Given the description of an element on the screen output the (x, y) to click on. 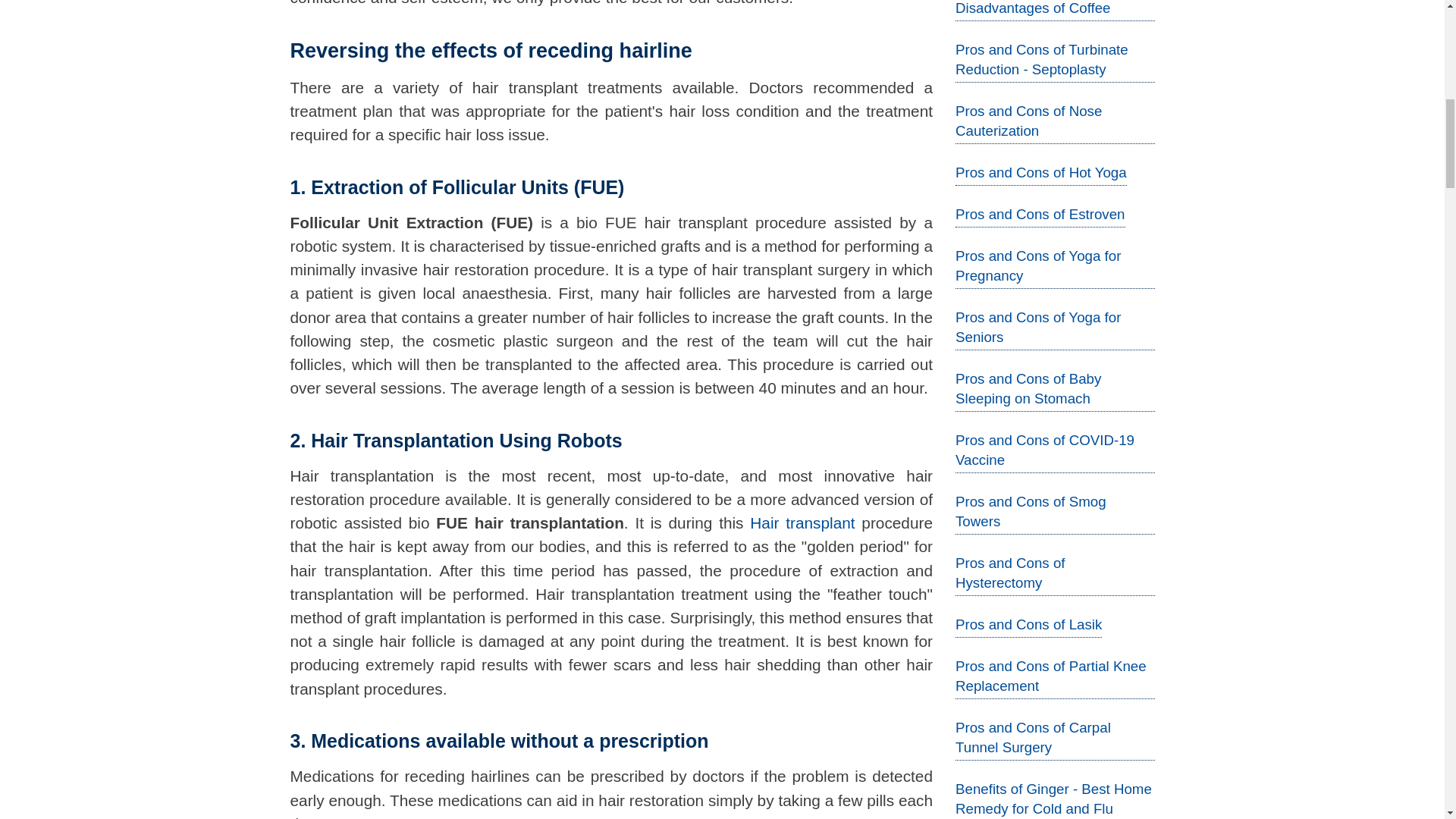
Hair transplant (801, 522)
Pros and Cons of Lasik (1028, 624)
Hair transplant (801, 522)
Pros and Cons of Nose Cauterization (1028, 120)
Pros and Cons of Baby Sleeping on Stomach (1027, 388)
Pros and Cons of Turbinate Reduction - Septoplasty (1041, 58)
Pros and Cons of COVID-19 Vaccine (1044, 449)
Pros and Cons of Estroven (1040, 213)
Pros and Cons of Partial Knee Replacement (1051, 675)
Advantages and Disadvantages of Coffee (1032, 7)
